Given the description of an element on the screen output the (x, y) to click on. 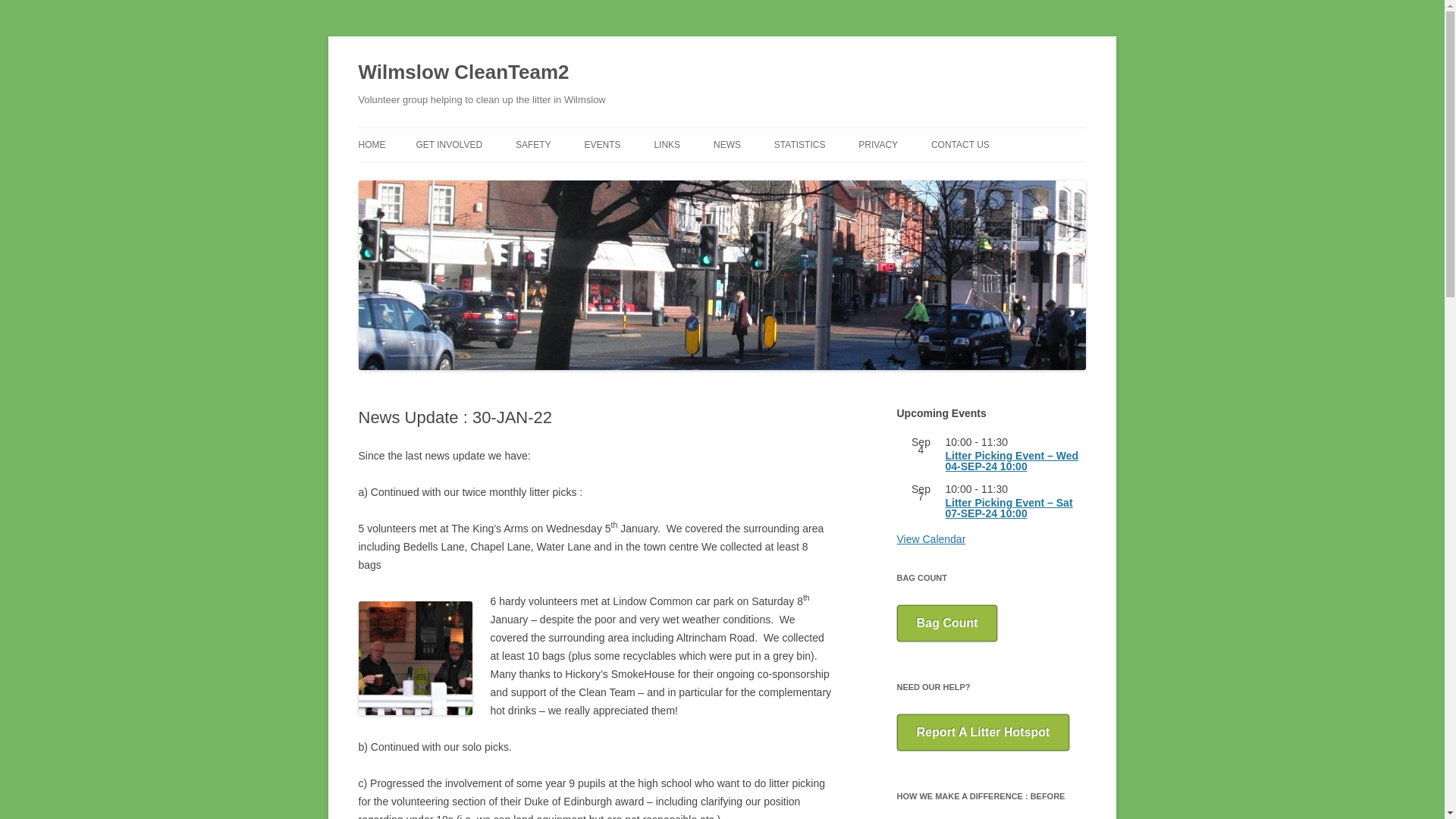
EVENTS (603, 144)
Wilmslow CleanTeam2 (463, 72)
SAFETY (533, 144)
GET INVOLVED (447, 144)
STATISTICS (799, 144)
VOLUNTEER (490, 176)
Bag Count (946, 623)
View Calendar (930, 539)
CONTACT US (960, 144)
